Given the description of an element on the screen output the (x, y) to click on. 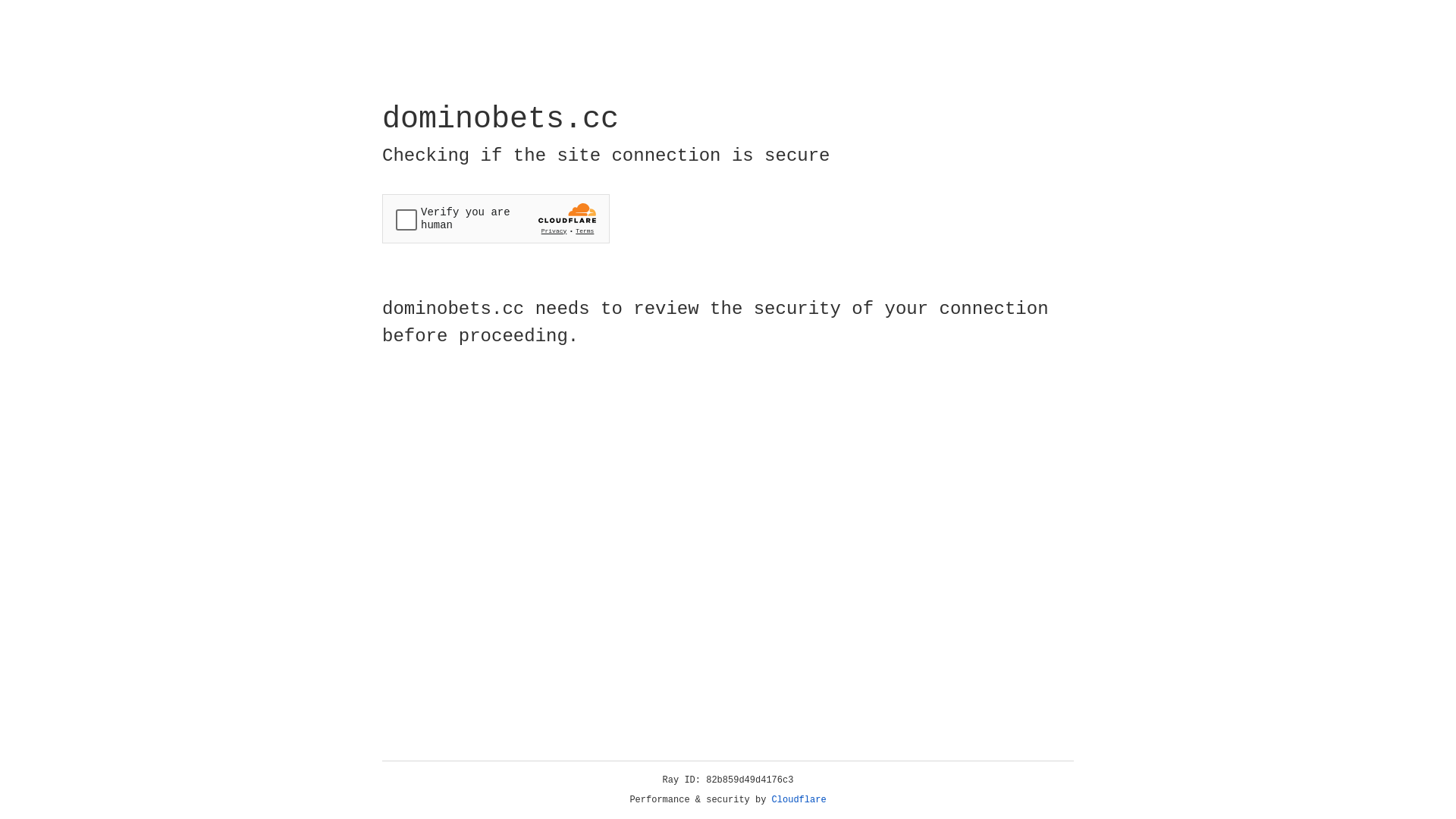
Cloudflare Element type: text (798, 799)
Widget containing a Cloudflare security challenge Element type: hover (495, 218)
